Given the description of an element on the screen output the (x, y) to click on. 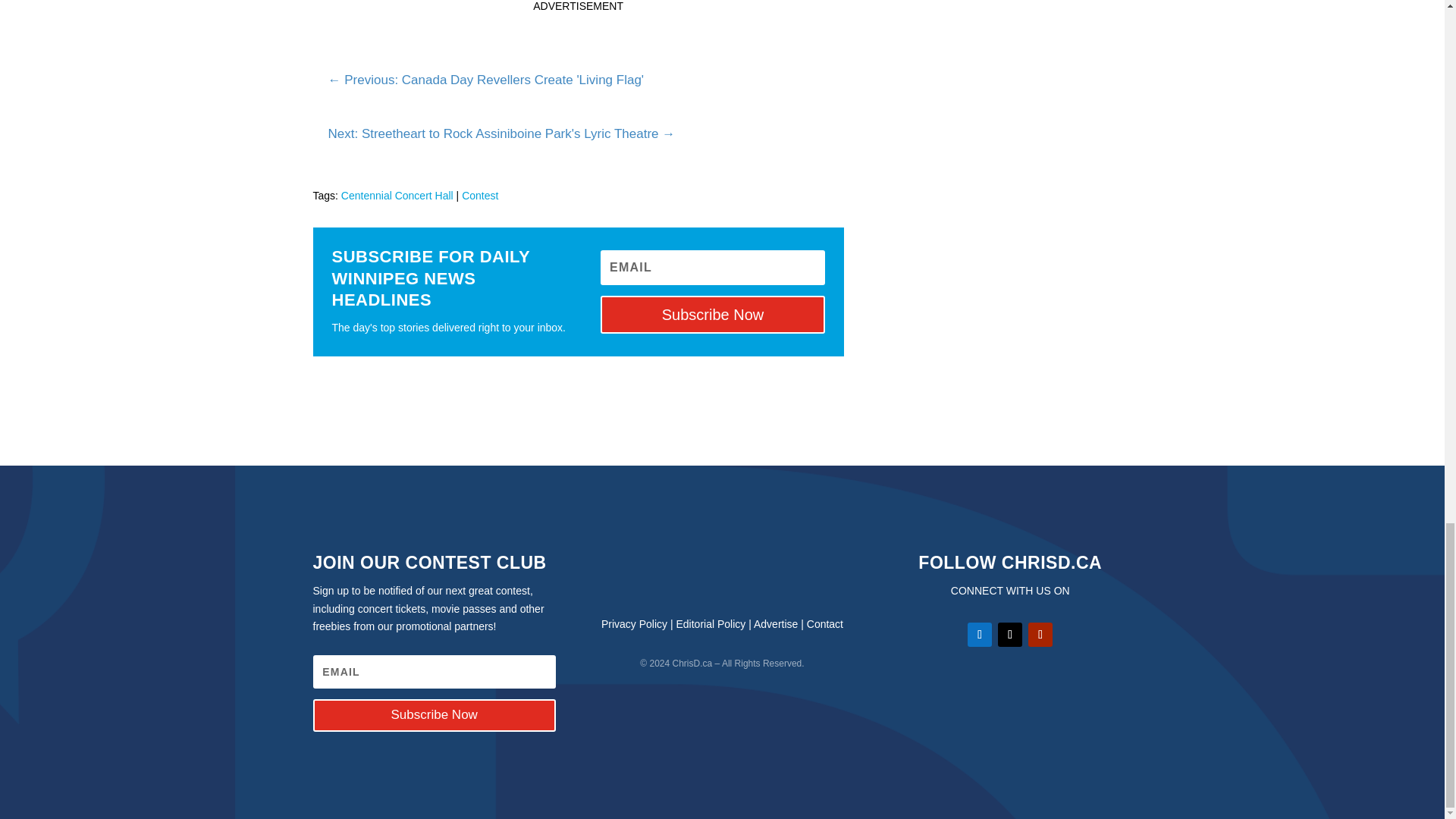
chrisd-logo-footer-300x92 (722, 572)
